Given the description of an element on the screen output the (x, y) to click on. 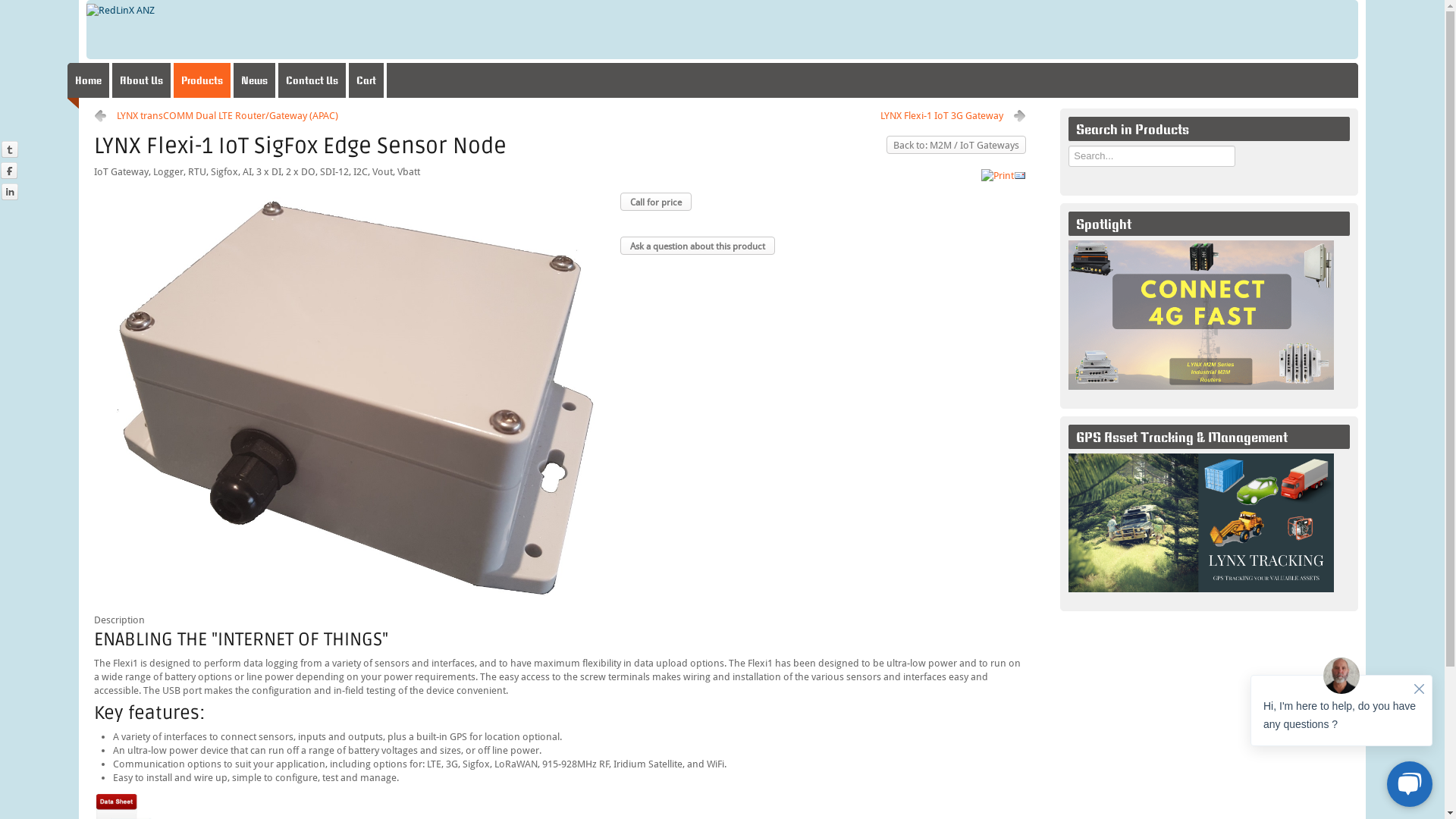
Print Element type: hover (997, 174)
LYNX Flexi-1 IoT 3G Gateway Element type: text (953, 115)
Ask a question about this product Element type: text (697, 245)
Twitter Element type: hover (9, 148)
LYNX transCOMM Dual LTE Router/Gateway (APAC) Element type: text (216, 115)
About Us Element type: text (142, 79)
LinkedIn Element type: hover (9, 191)
Back to: M2M / IoT Gateways Element type: text (956, 144)
Cart Element type: text (367, 79)
Products Element type: text (203, 79)
Call for price Element type: text (655, 201)
Facebook Element type: hover (9, 169)
Email Element type: hover (1019, 174)
News Element type: text (255, 79)
Contact Us Element type: text (313, 79)
Home Element type: text (89, 79)
